Given the description of an element on the screen output the (x, y) to click on. 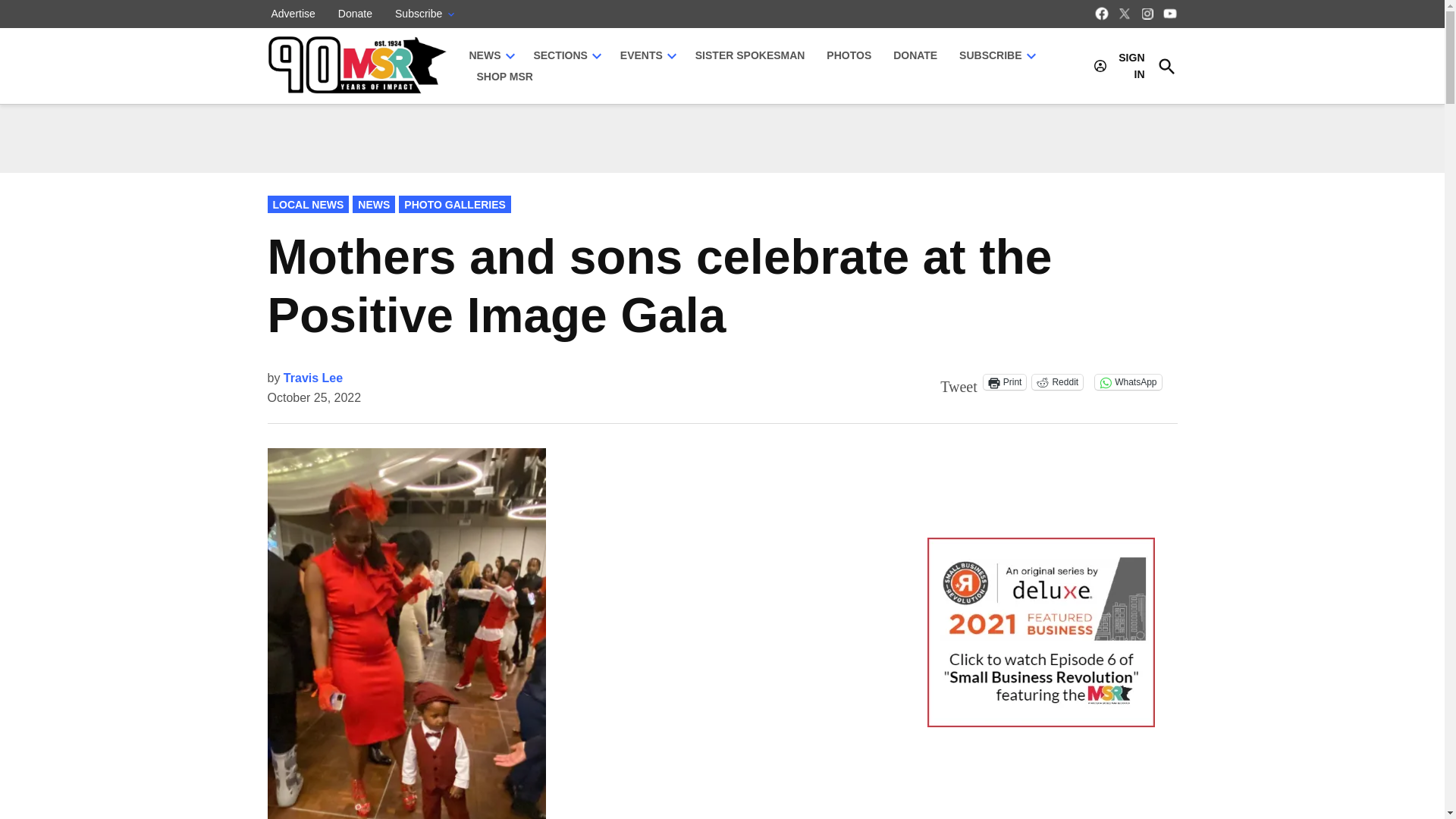
Click to share on WhatsApp (1127, 381)
Click to share on Reddit (1057, 381)
Click to print (1005, 381)
